Given the description of an element on the screen output the (x, y) to click on. 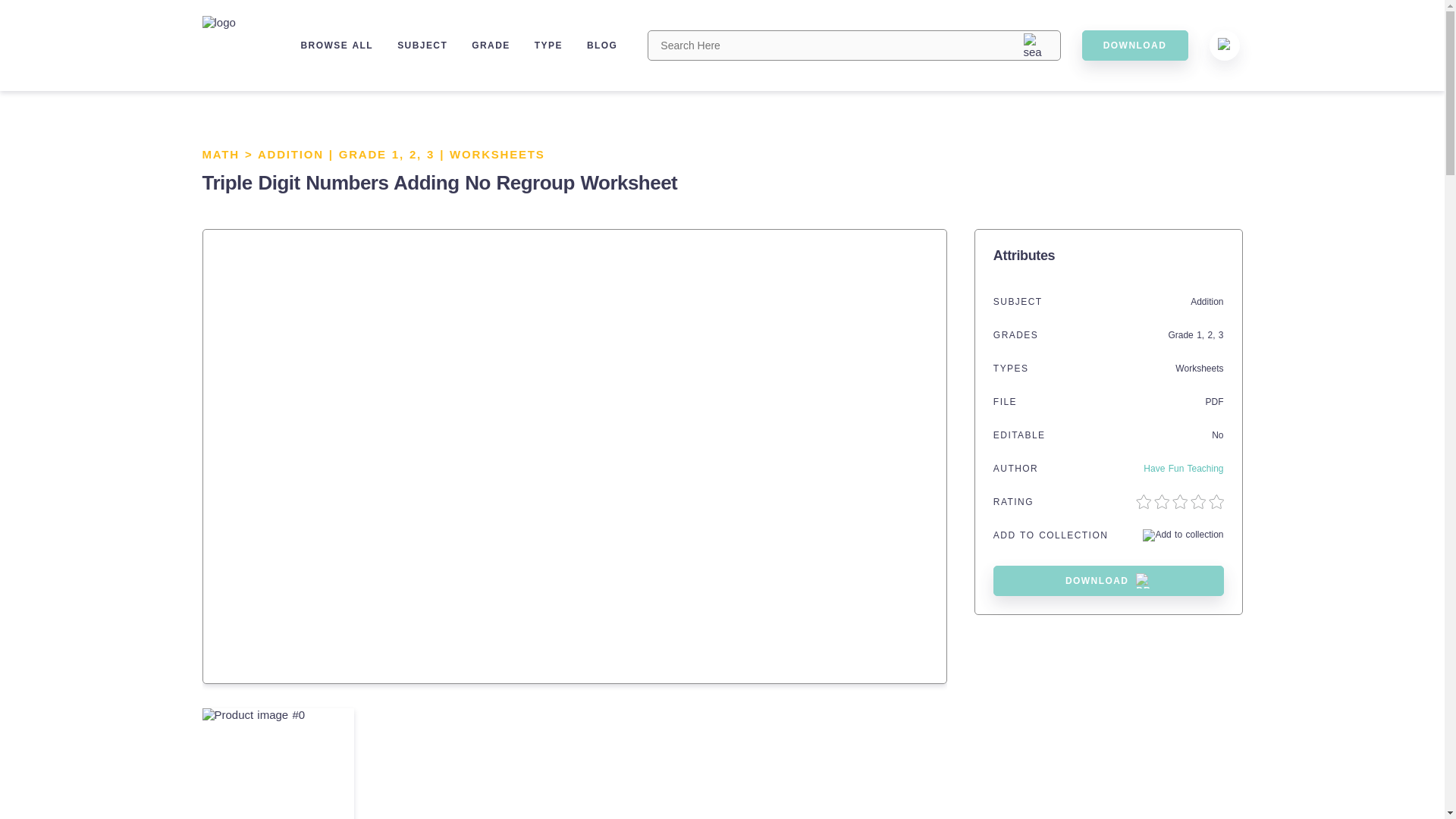
2, (417, 154)
1, (400, 154)
Addition (1207, 301)
Worksheets (1198, 368)
MATH (220, 154)
DOWNLOAD (1134, 45)
BLOG (601, 45)
2, (1212, 335)
1, (1201, 335)
Have Fun Teaching (1182, 468)
